Given the description of an element on the screen output the (x, y) to click on. 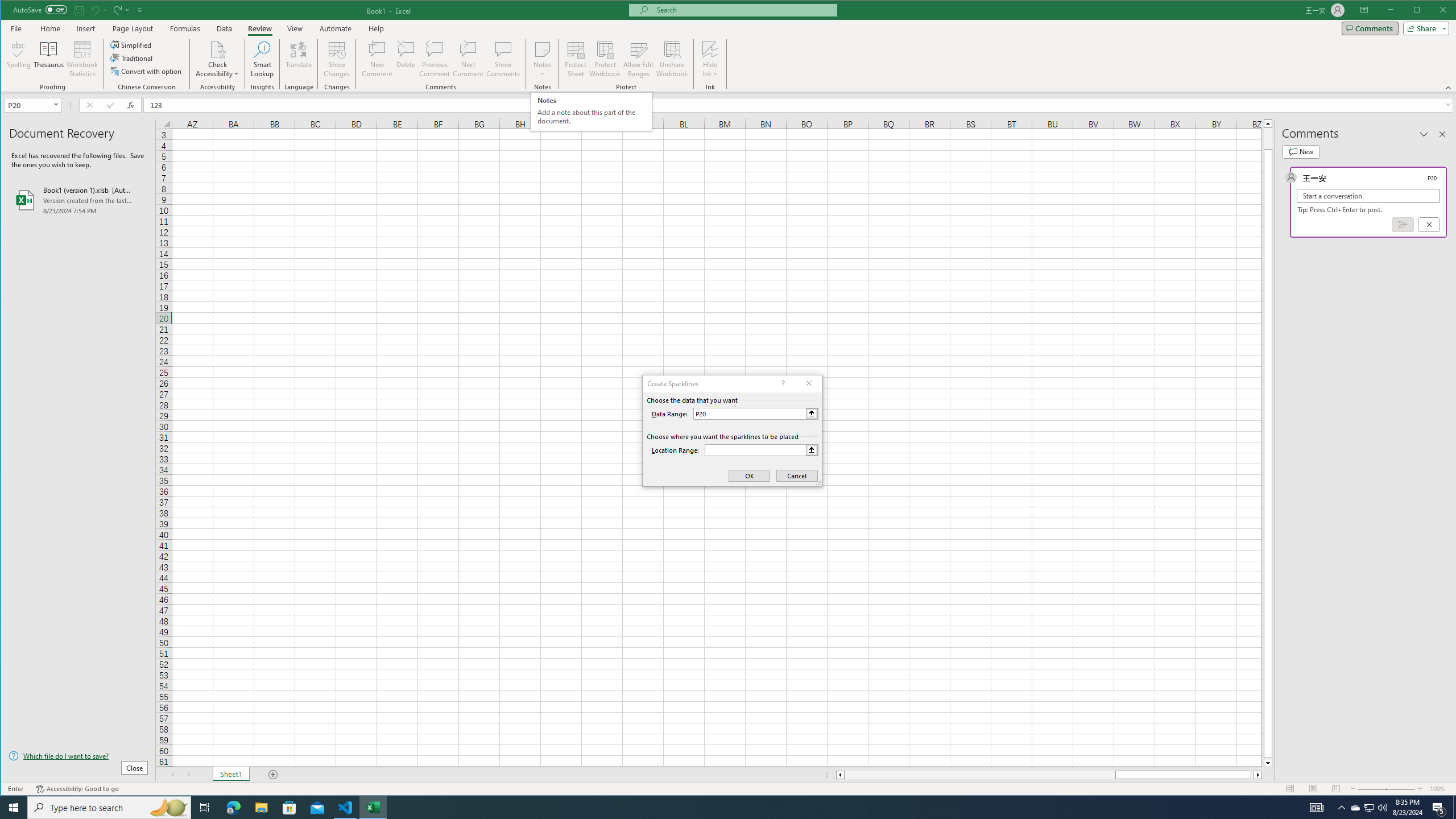
Simplified (132, 44)
Class: NetUIScrollBar (1048, 774)
Which file do I want to save? (590, 111)
Microsoft search (78, 755)
More Options (742, 10)
Allow Edit Ranges (710, 69)
Check Accessibility (638, 59)
Name Box (217, 59)
Task Pane Options (27, 104)
Scroll Left (1423, 133)
Workbook Statistics (172, 774)
Column left (82, 59)
